Given the description of an element on the screen output the (x, y) to click on. 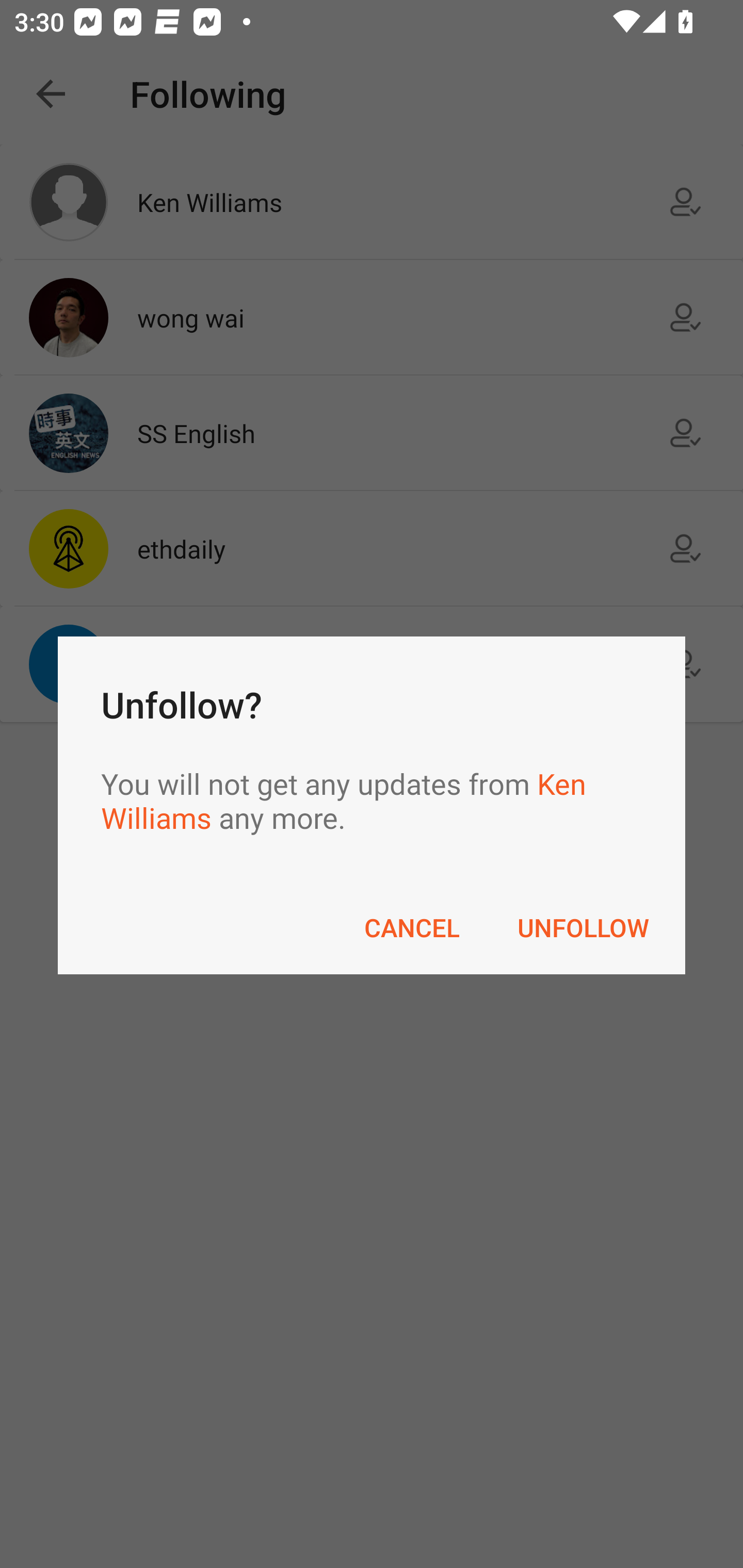
CANCEL (411, 927)
UNFOLLOW (582, 927)
